Given the description of an element on the screen output the (x, y) to click on. 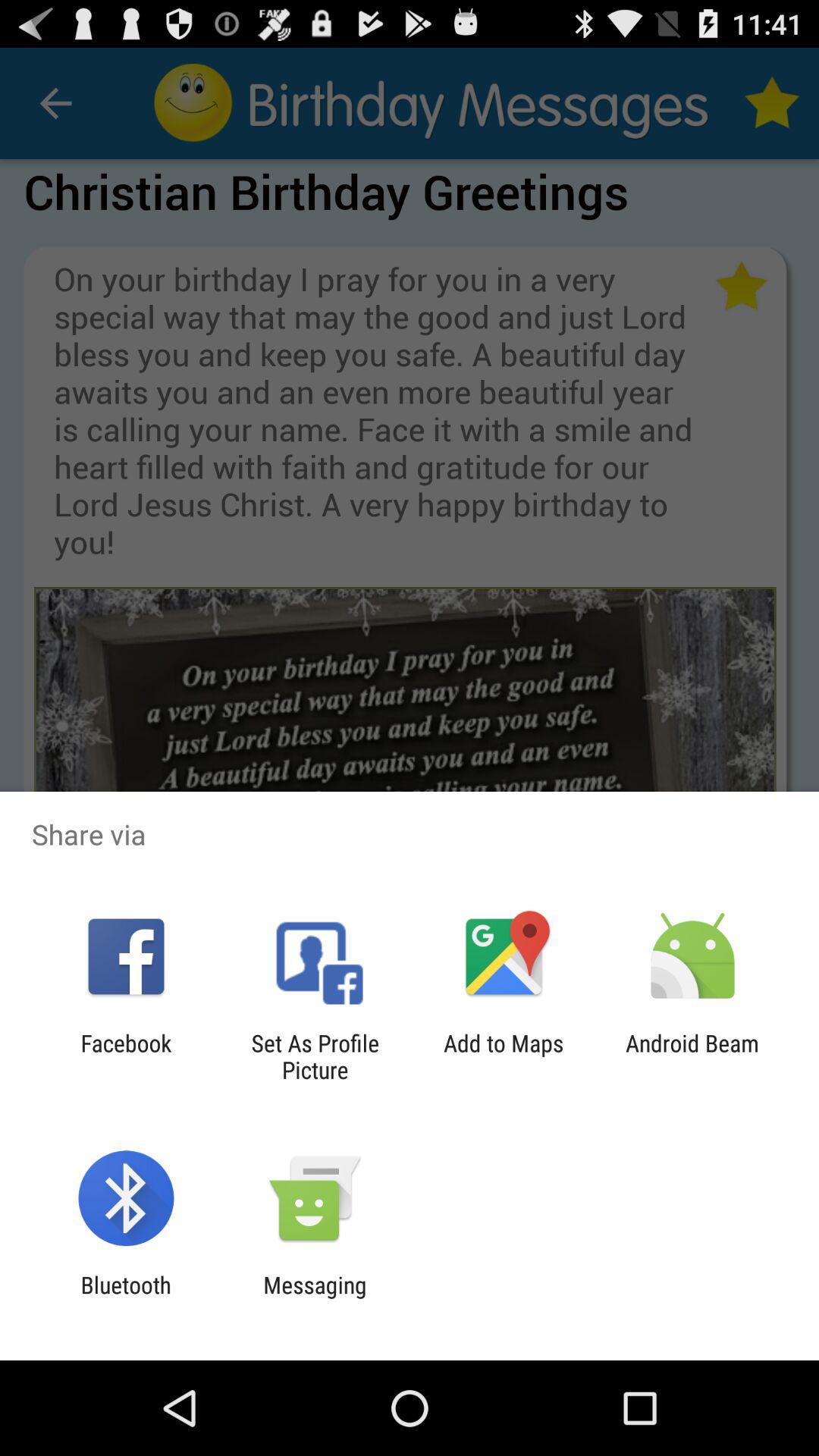
tap icon next to the facebook app (314, 1056)
